Given the description of an element on the screen output the (x, y) to click on. 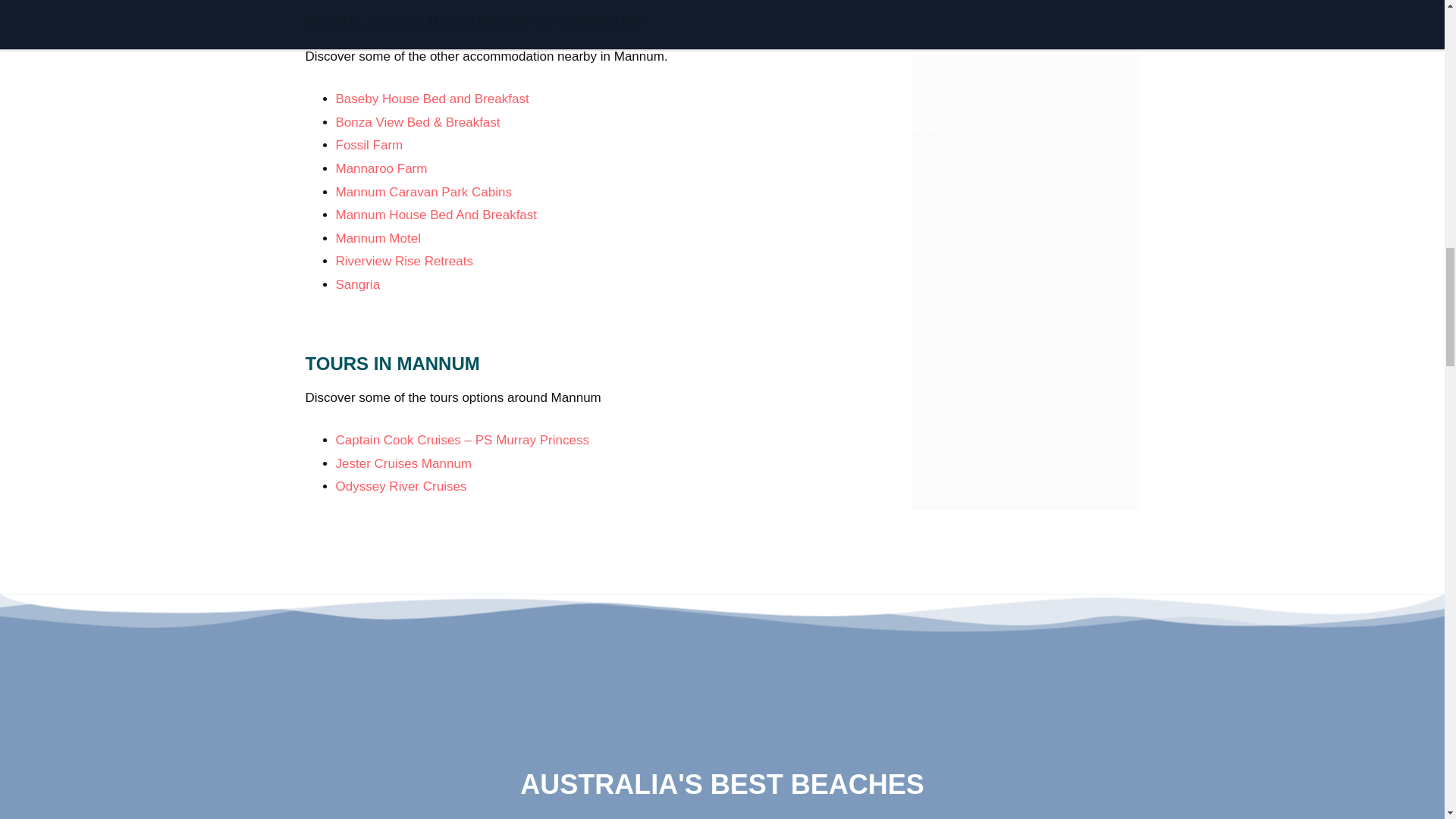
Jester Cruises Mannum (402, 463)
Mannum Motel (377, 237)
Riverview Rise Retreats (402, 260)
Baseby House Bed and Breakfast (431, 98)
Fossil Farm (368, 145)
Mannum House Bed And Breakfast (435, 214)
Odyssey River Cruises (399, 486)
Sangria (357, 284)
Mannum Caravan Park Cabins (422, 192)
Mannaroo Farm (380, 168)
